Given the description of an element on the screen output the (x, y) to click on. 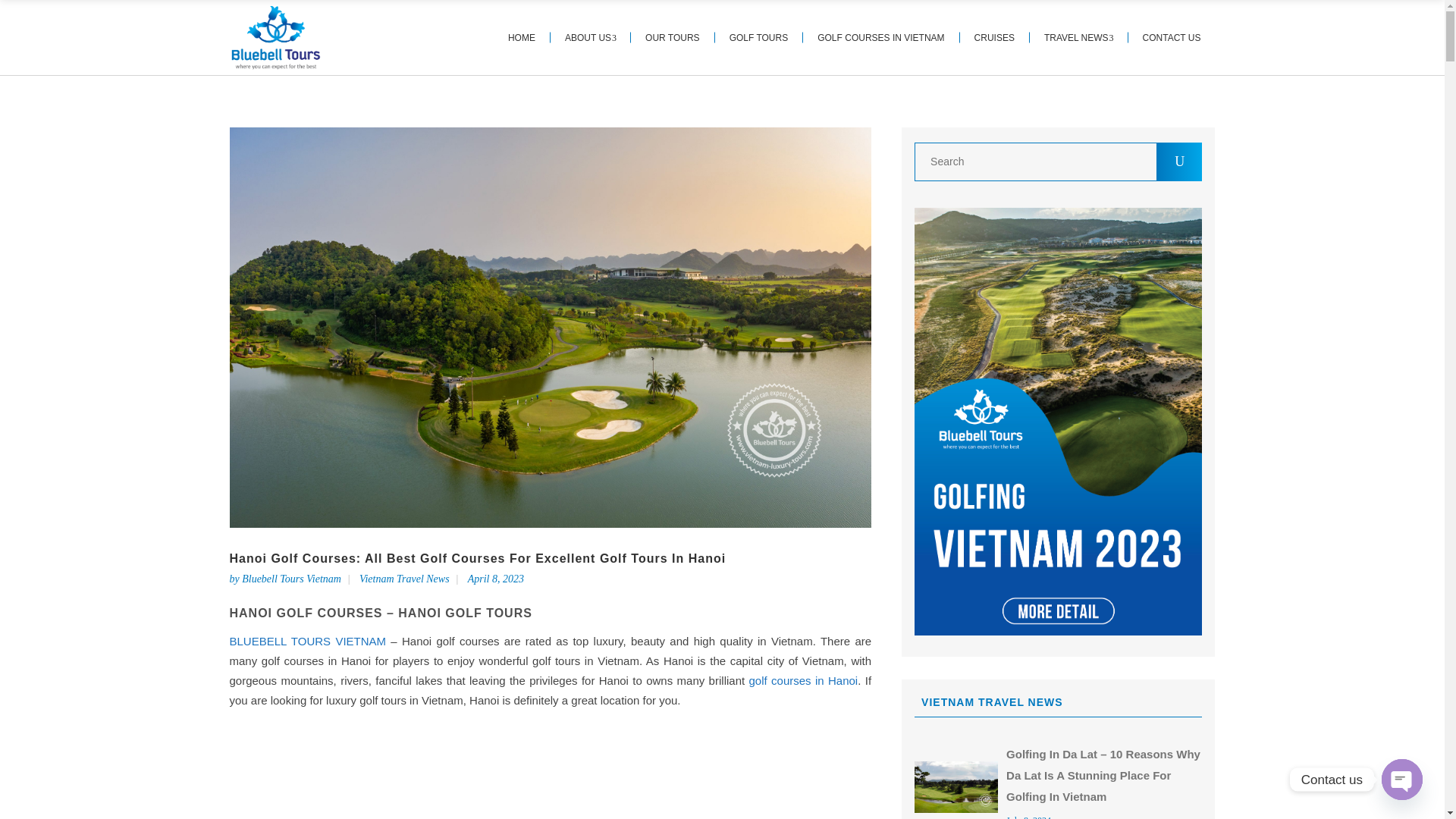
ABOUT US (590, 37)
TRAVEL NEWS (1078, 37)
U (1179, 161)
GOLF TOURS (758, 37)
CONTACT US (1171, 37)
CRUISES (994, 37)
GOLF COURSES IN VIETNAM (881, 37)
OUR TOURS (672, 37)
